Given the description of an element on the screen output the (x, y) to click on. 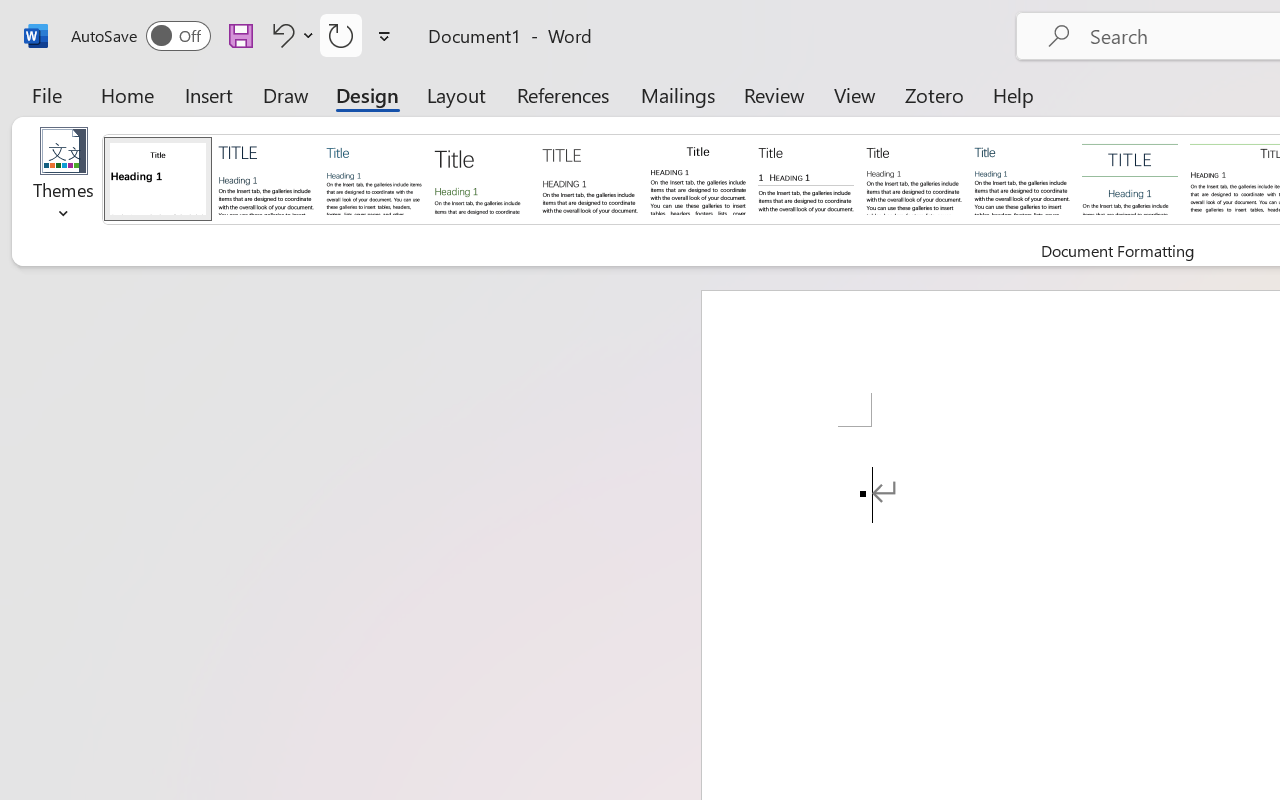
Basic (Stylish) (481, 178)
Basic (Simple) (373, 178)
